Given the description of an element on the screen output the (x, y) to click on. 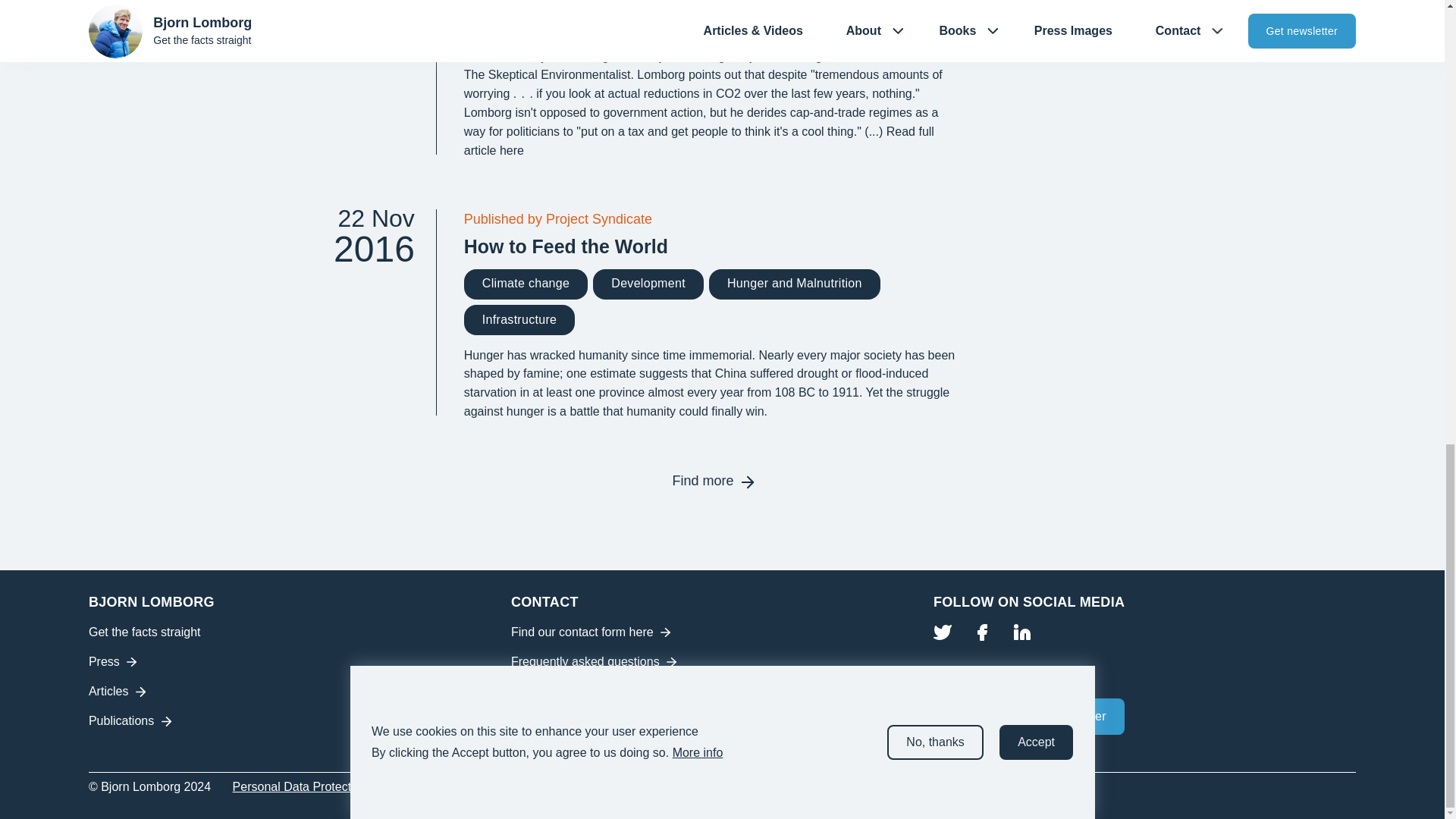
Climate change (713, 8)
Climate change (362, 77)
